Given the description of an element on the screen output the (x, y) to click on. 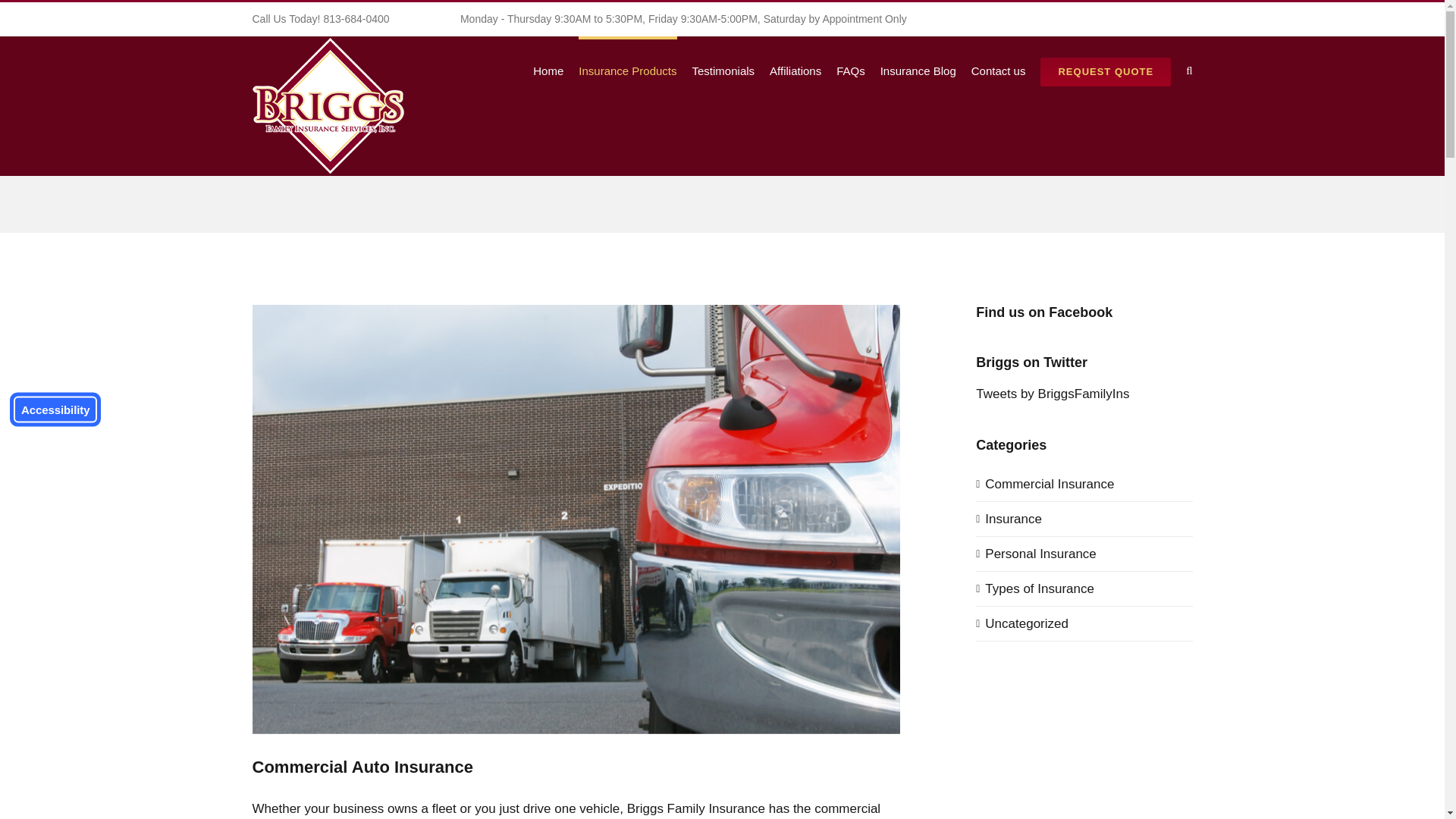
Insurance Blog (918, 69)
Insurance Products (627, 69)
Testimonials (724, 69)
REQUEST QUOTE (1105, 69)
Accessibility Menu (55, 409)
